Given the description of an element on the screen output the (x, y) to click on. 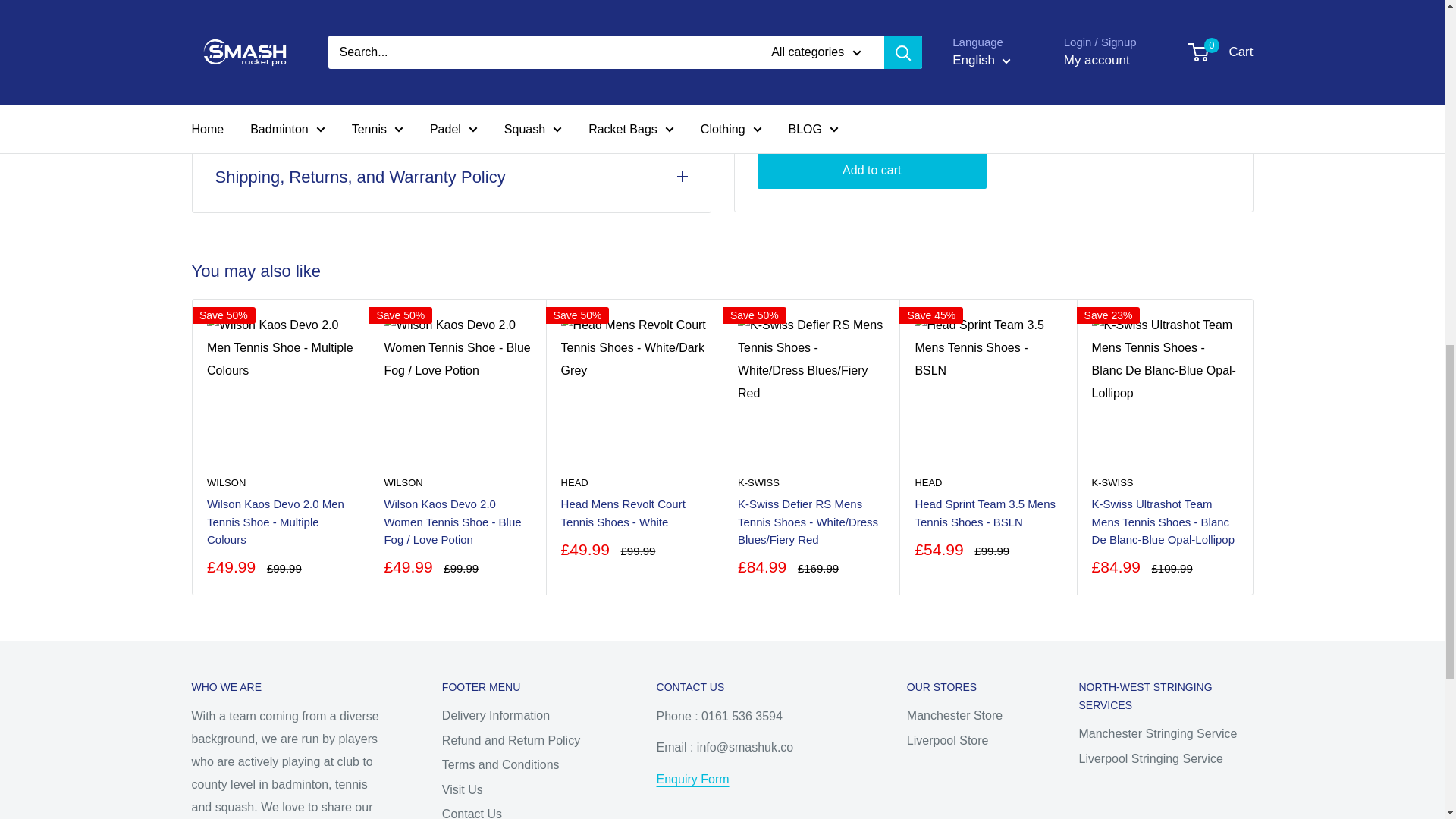
Contact Us (692, 779)
